Given the description of an element on the screen output the (x, y) to click on. 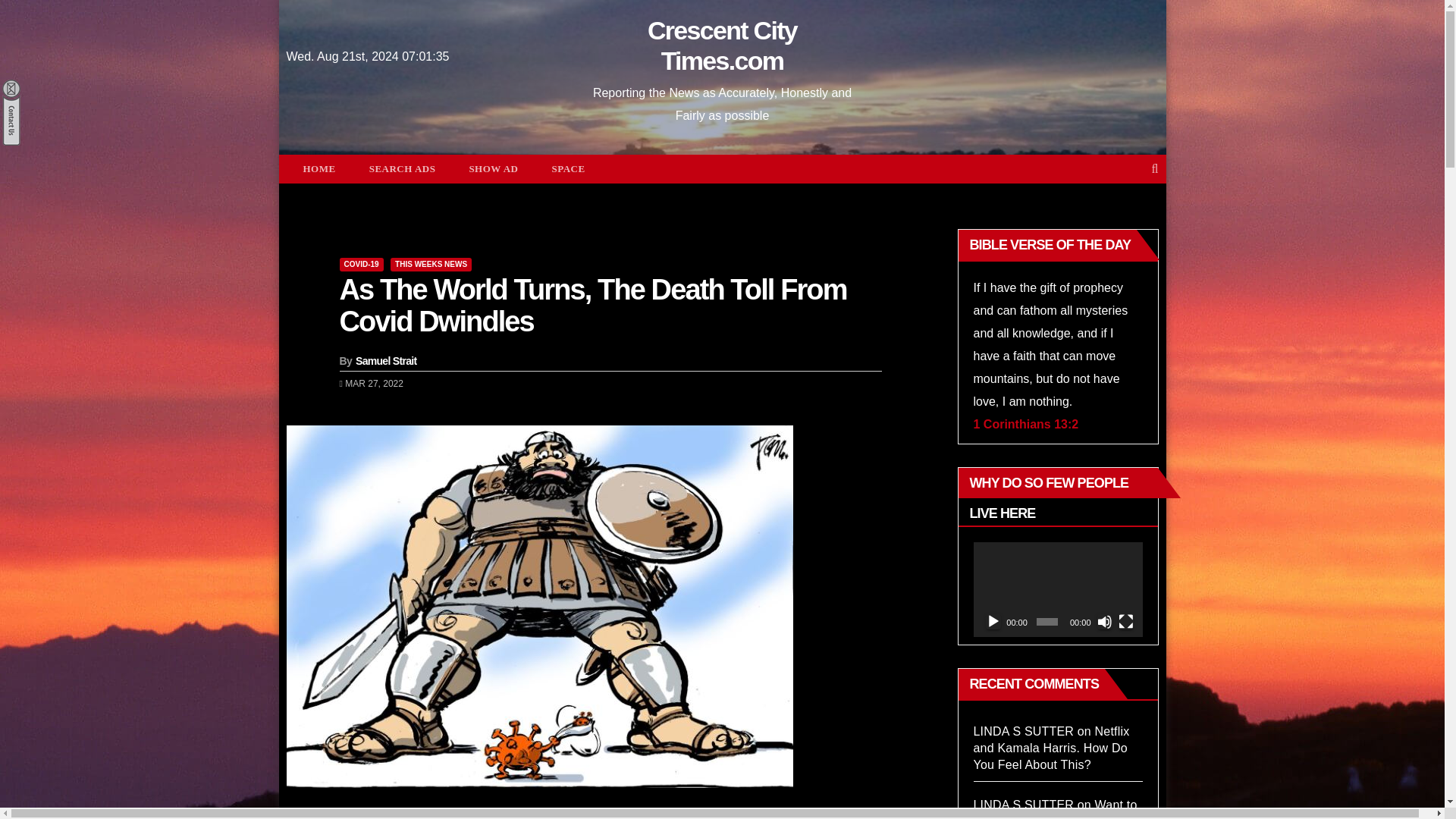
COVID-19 (361, 264)
Play (993, 621)
As The World Turns, The Death Toll From Covid Dwindles (593, 305)
SHOW AD (492, 168)
Samuel Strait (385, 360)
SPACE (567, 168)
SEARCH ADS (402, 168)
Home (319, 168)
1 Corinthians 13:2 (1026, 423)
